Given the description of an element on the screen output the (x, y) to click on. 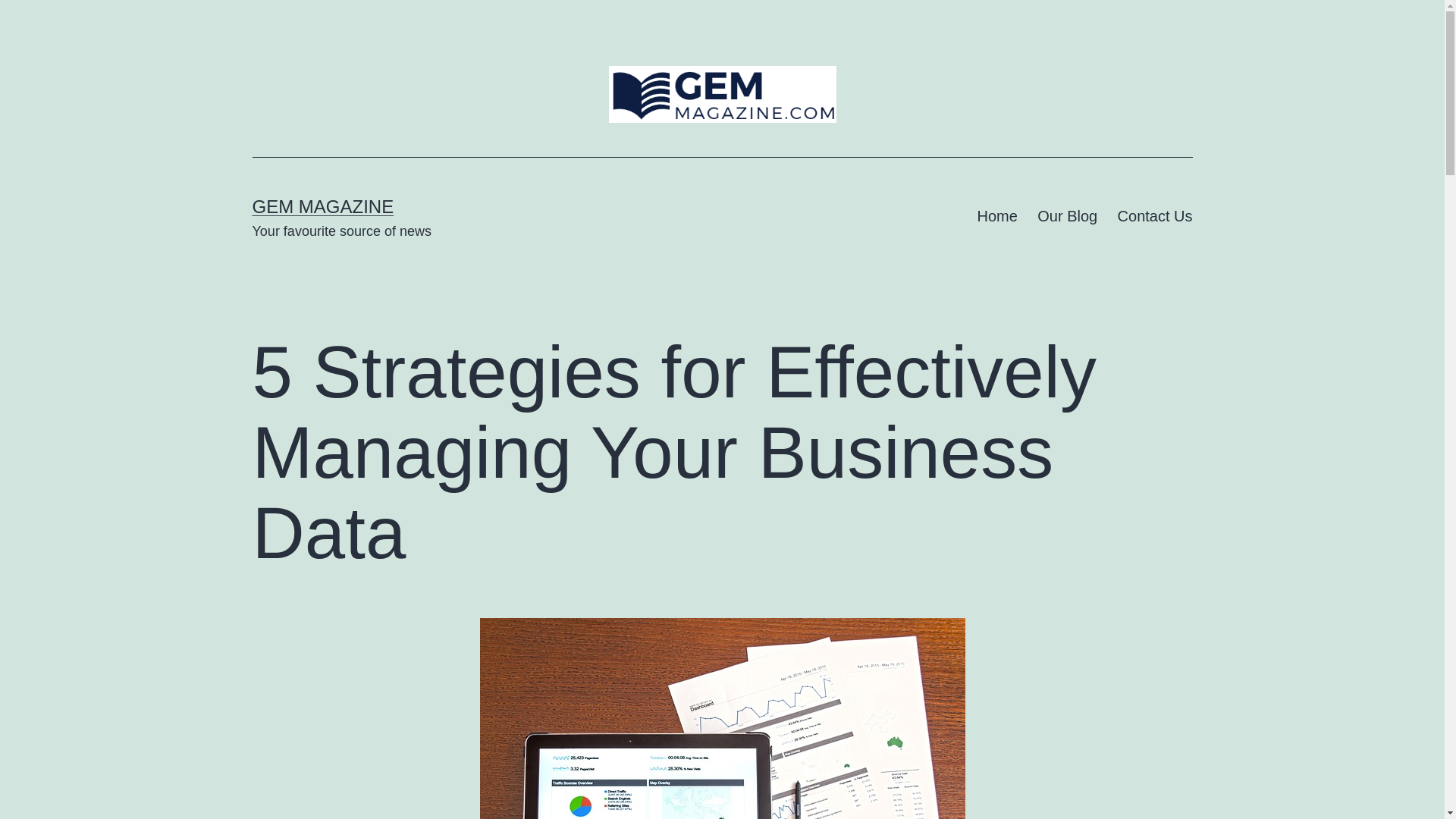
Our Blog (1066, 216)
GEM MAGAZINE (322, 206)
Contact Us (1154, 216)
Home (996, 216)
